Given the description of an element on the screen output the (x, y) to click on. 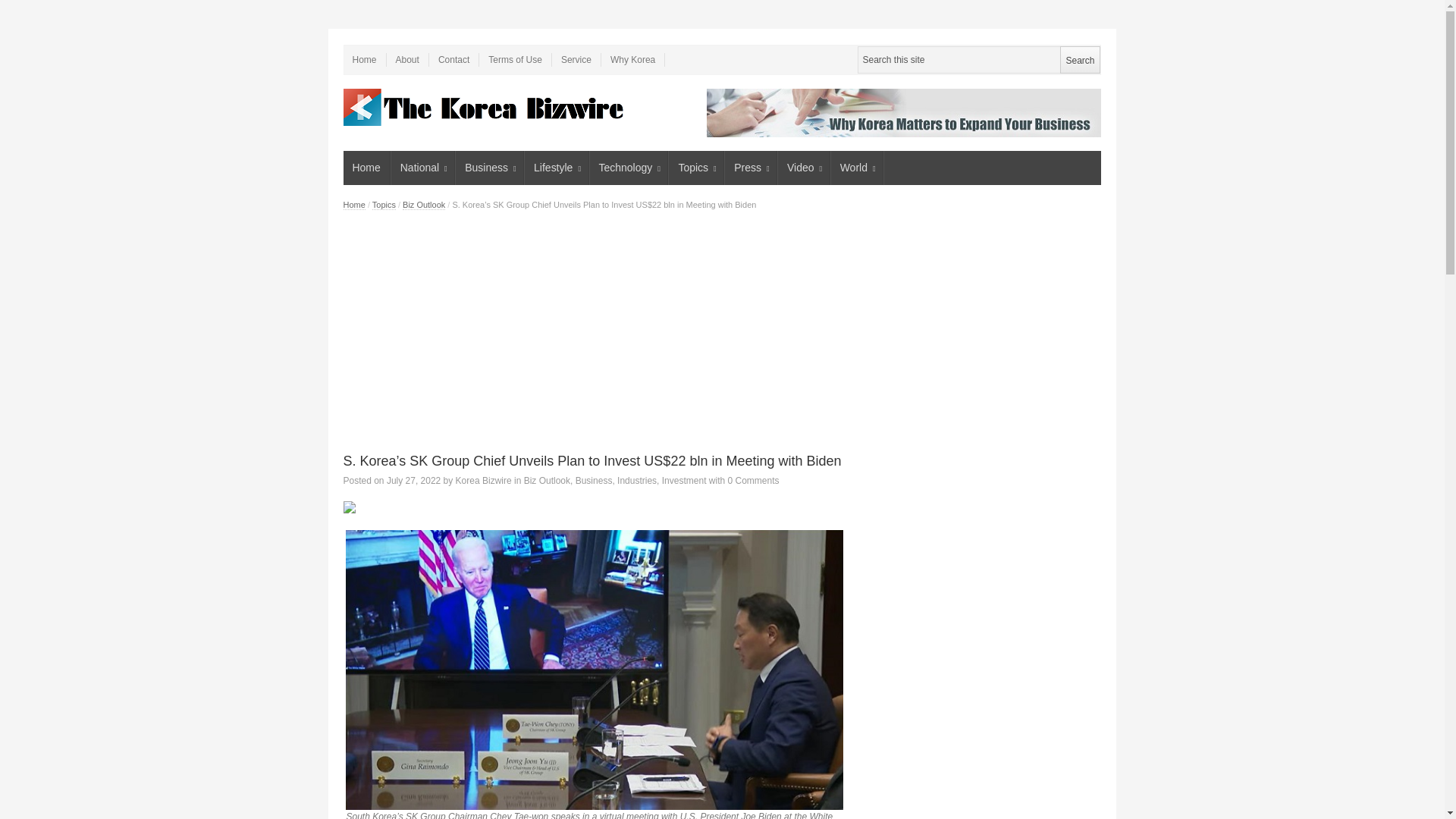
Be Korea-savvy (484, 107)
Search this site (978, 59)
View all posts in Topics (384, 204)
Business (489, 167)
View all posts in Industries (636, 480)
About (408, 59)
Home (363, 59)
Home (366, 167)
View all posts by Korea Bizwire (483, 480)
Service (576, 59)
